Given the description of an element on the screen output the (x, y) to click on. 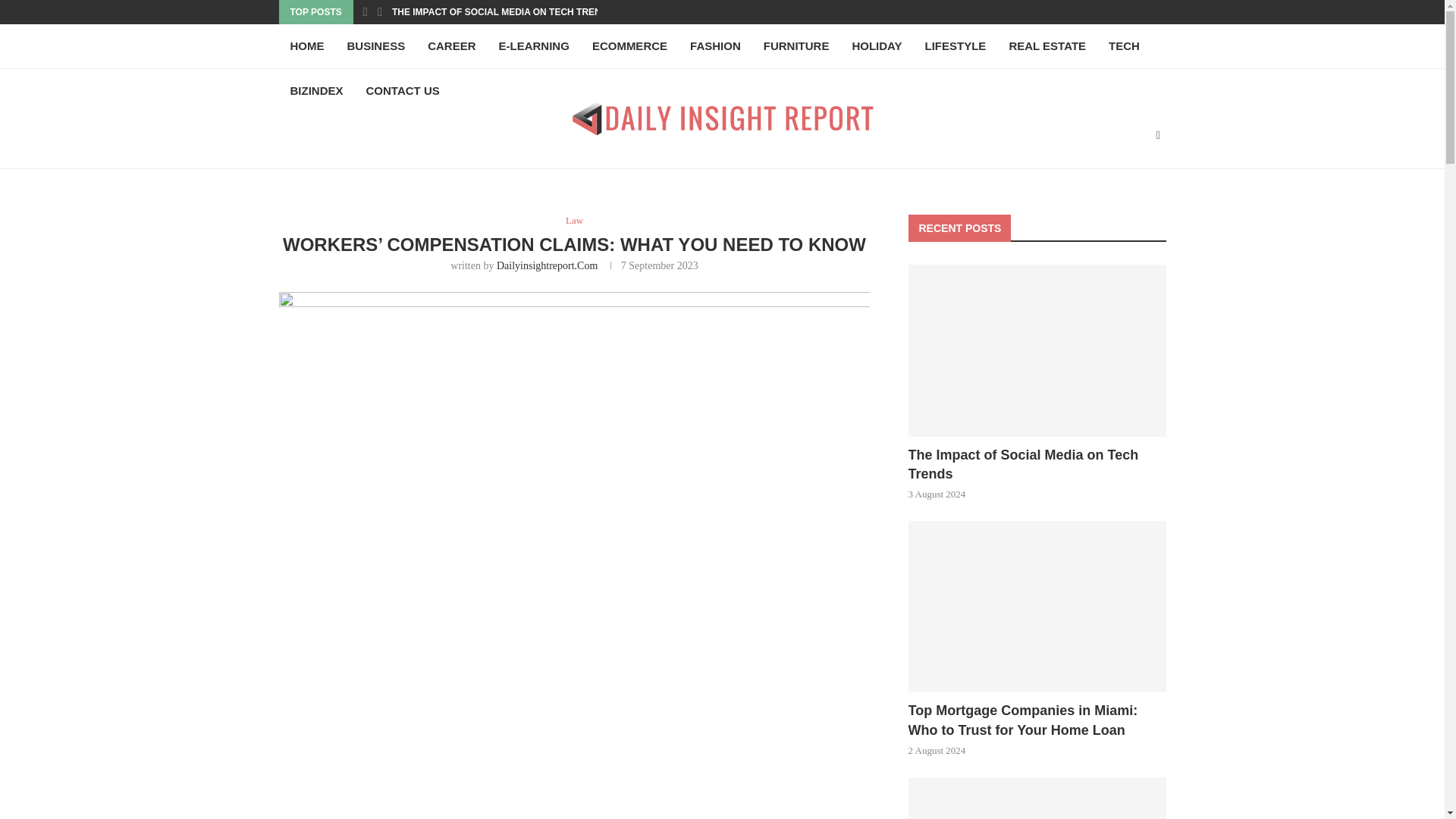
FASHION (715, 46)
FURNITURE (796, 46)
HOLIDAY (876, 46)
BIZINDEX (317, 90)
Law (574, 220)
REAL ESTATE (1047, 46)
CONTACT US (403, 90)
The Impact of Social Media on Tech Trends (1037, 350)
CAREER (451, 46)
ECOMMERCE (629, 46)
BUSINESS (375, 46)
E-LEARNING (533, 46)
Dailyinsightreport.Com (546, 265)
LIFESTYLE (955, 46)
